Given the description of an element on the screen output the (x, y) to click on. 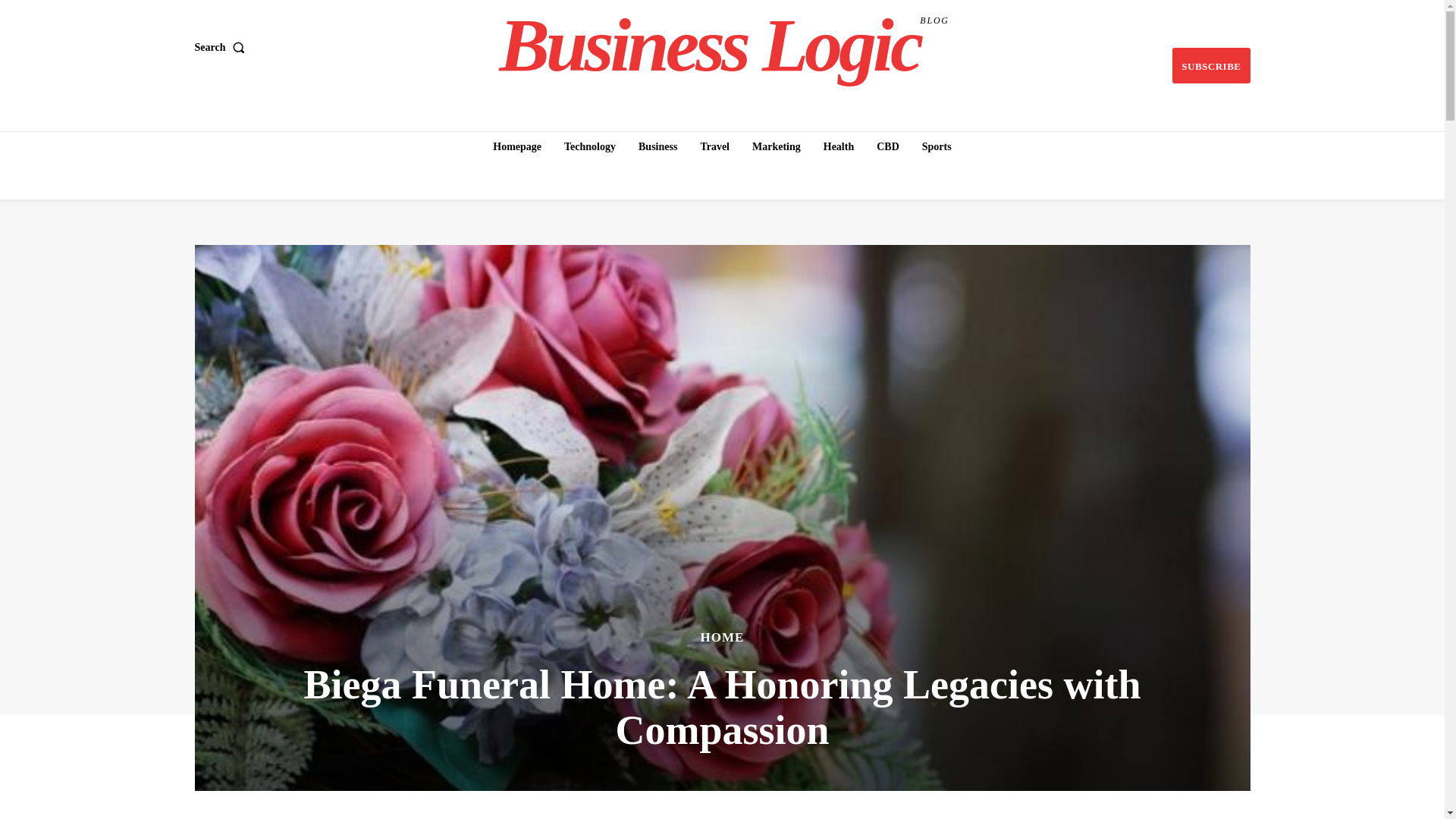
Search (221, 47)
Business (657, 146)
Homepage (516, 146)
SUBSCRIBE (1210, 65)
Travel (714, 146)
Marketing (776, 146)
Technology (589, 146)
